Given the description of an element on the screen output the (x, y) to click on. 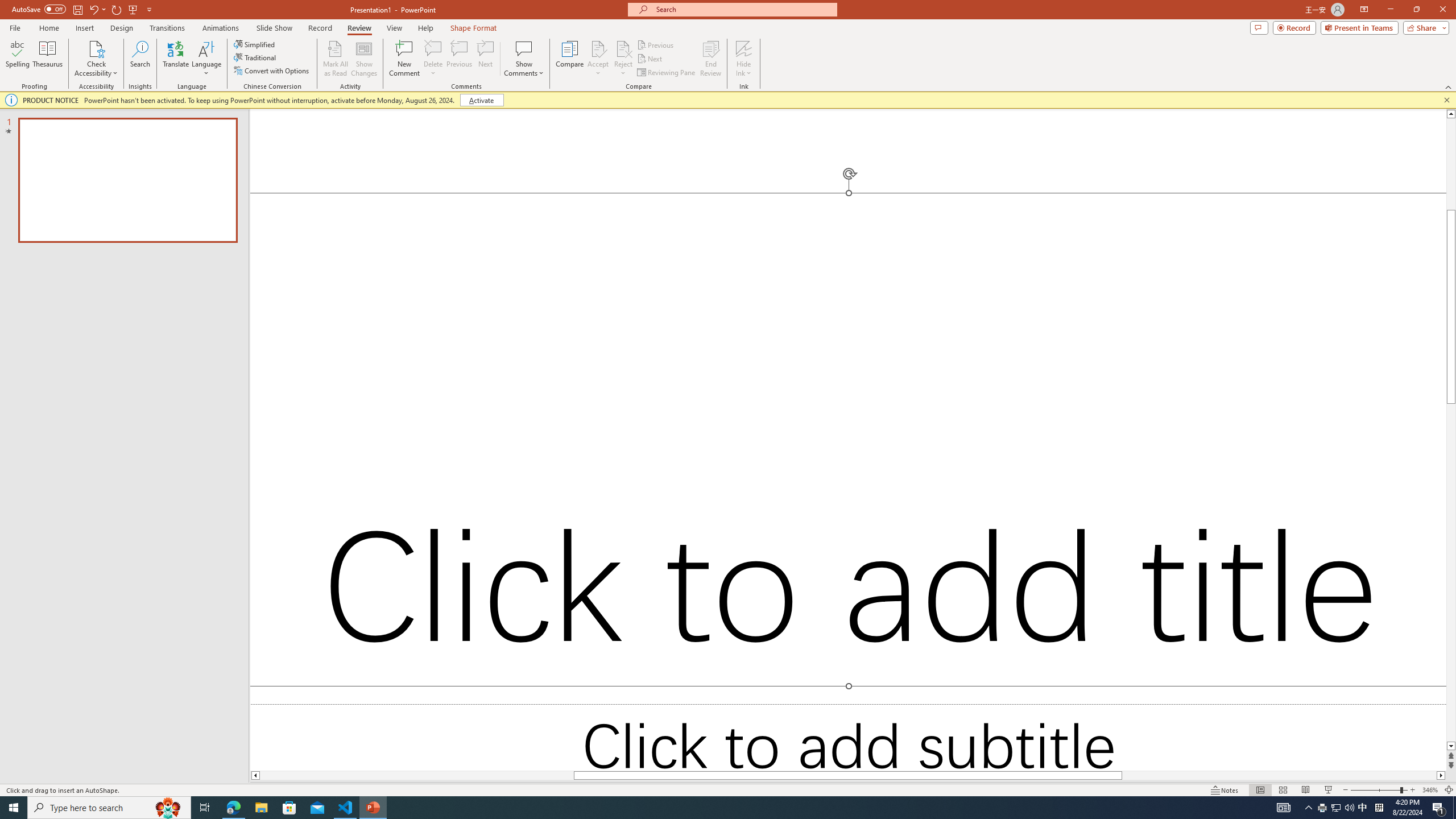
Language (206, 58)
Traditional (255, 56)
Spelling... (17, 58)
Close this message (1446, 99)
